Given the description of an element on the screen output the (x, y) to click on. 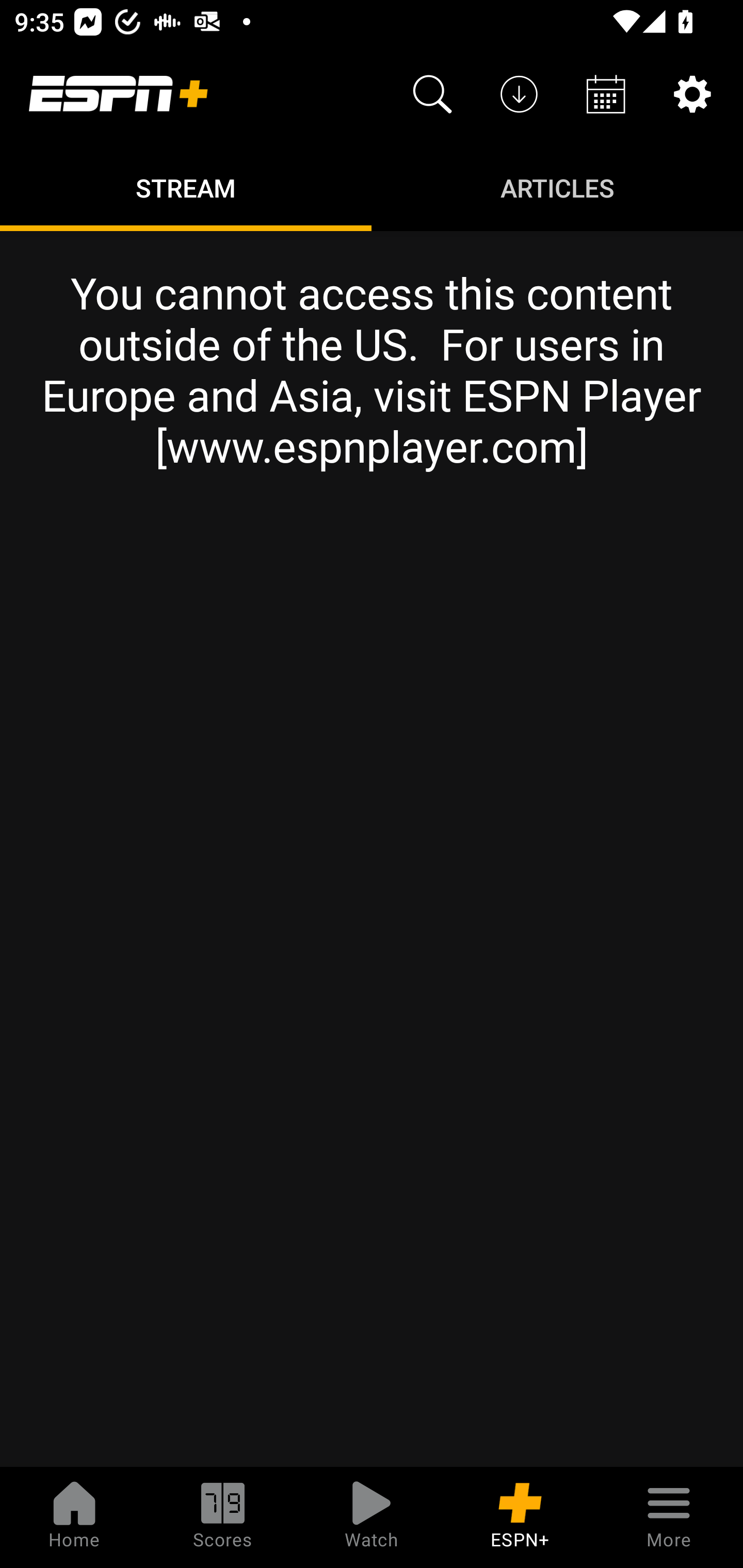
Search (432, 93)
Downloads (518, 93)
Schedule (605, 93)
Settings (692, 93)
Articles ARTICLES (557, 187)
Home (74, 1517)
Scores (222, 1517)
Watch (371, 1517)
More (668, 1517)
